Given the description of an element on the screen output the (x, y) to click on. 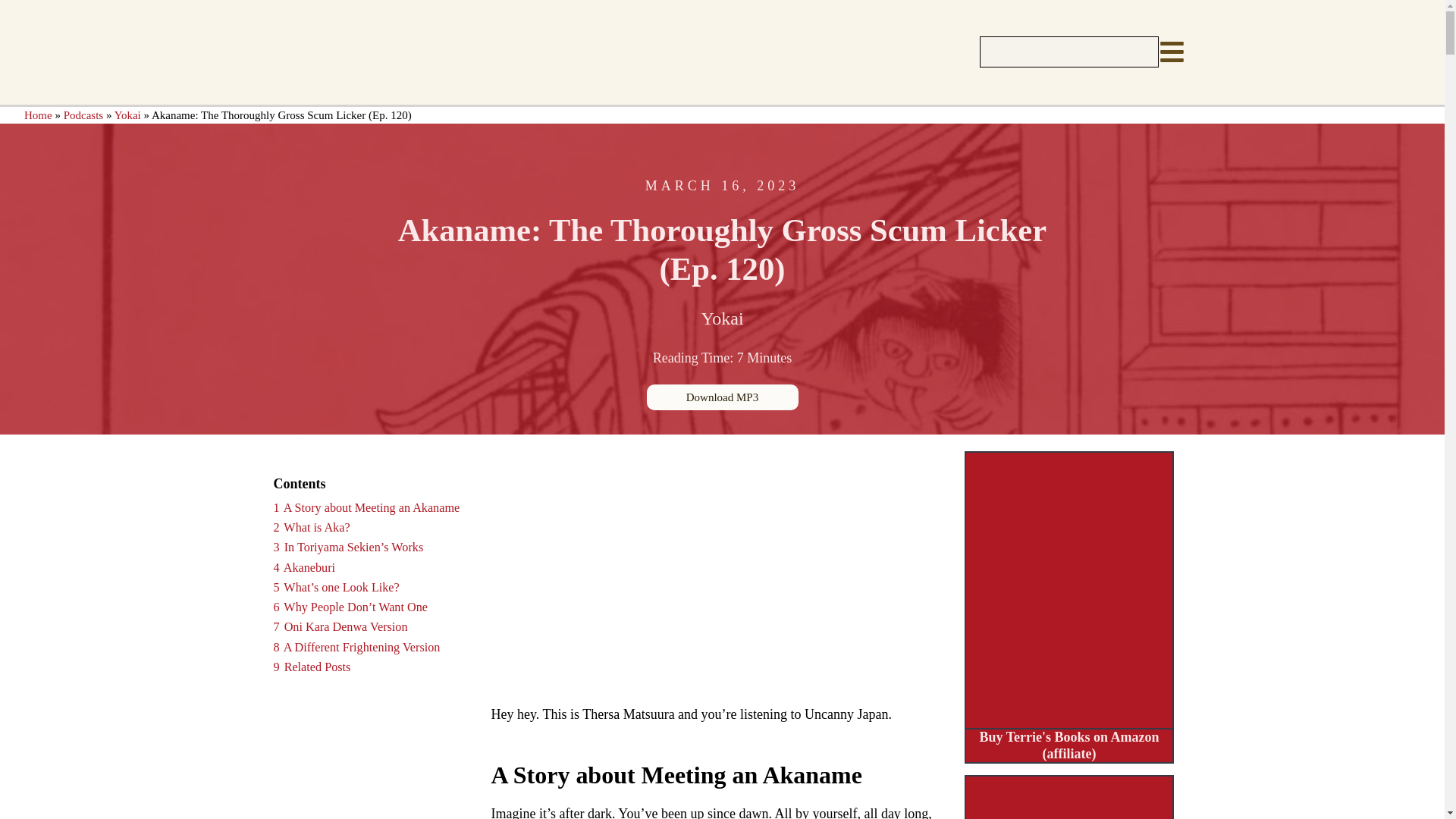
Yokai (311, 667)
Home (721, 318)
Download MP3 (38, 114)
Yokai (340, 626)
Podcasts (311, 527)
Search (356, 647)
